Given the description of an element on the screen output the (x, y) to click on. 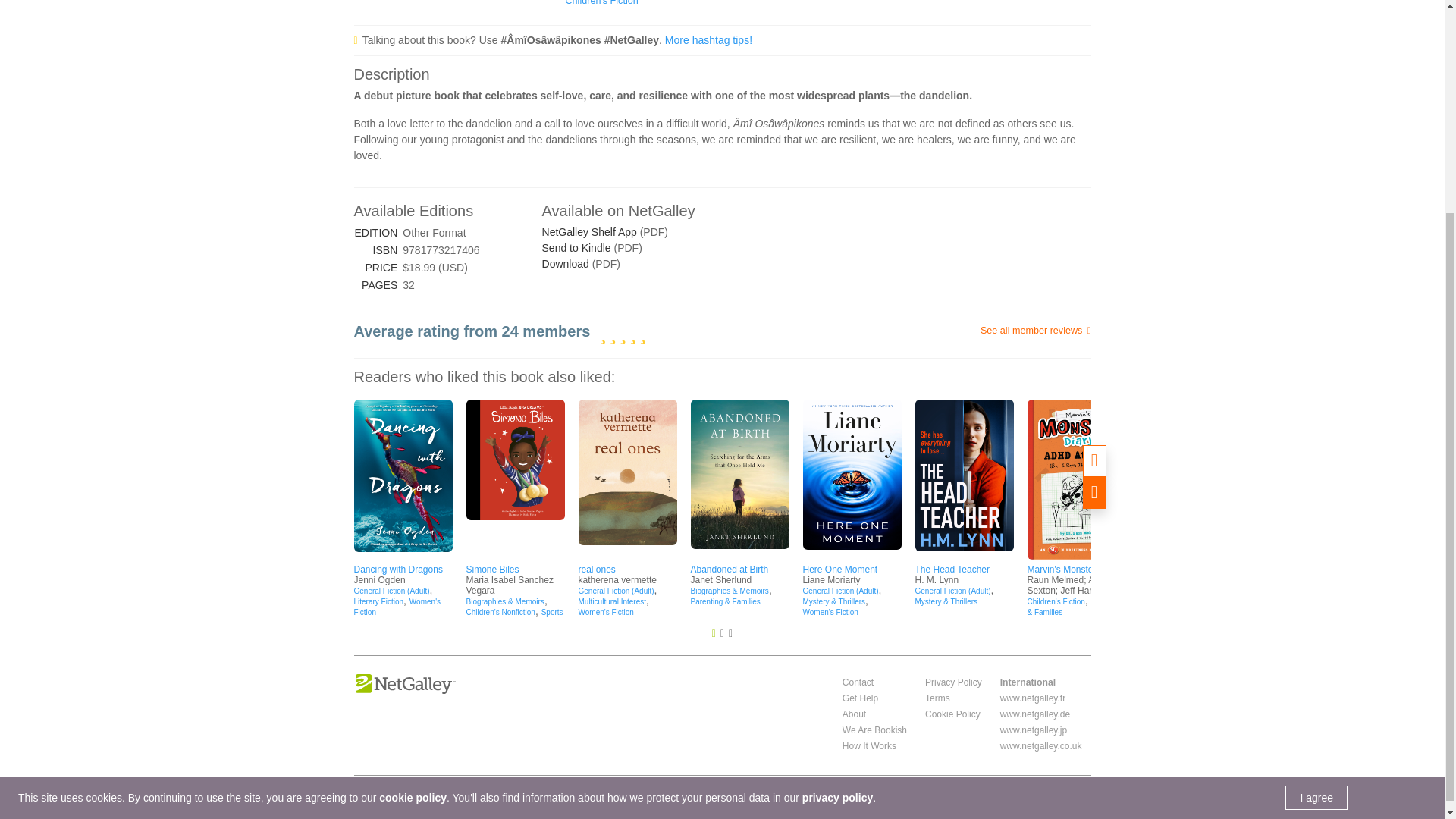
More hashtag tips! (708, 39)
Children's Fiction (602, 2)
See all member reviews (967, 330)
